Given the description of an element on the screen output the (x, y) to click on. 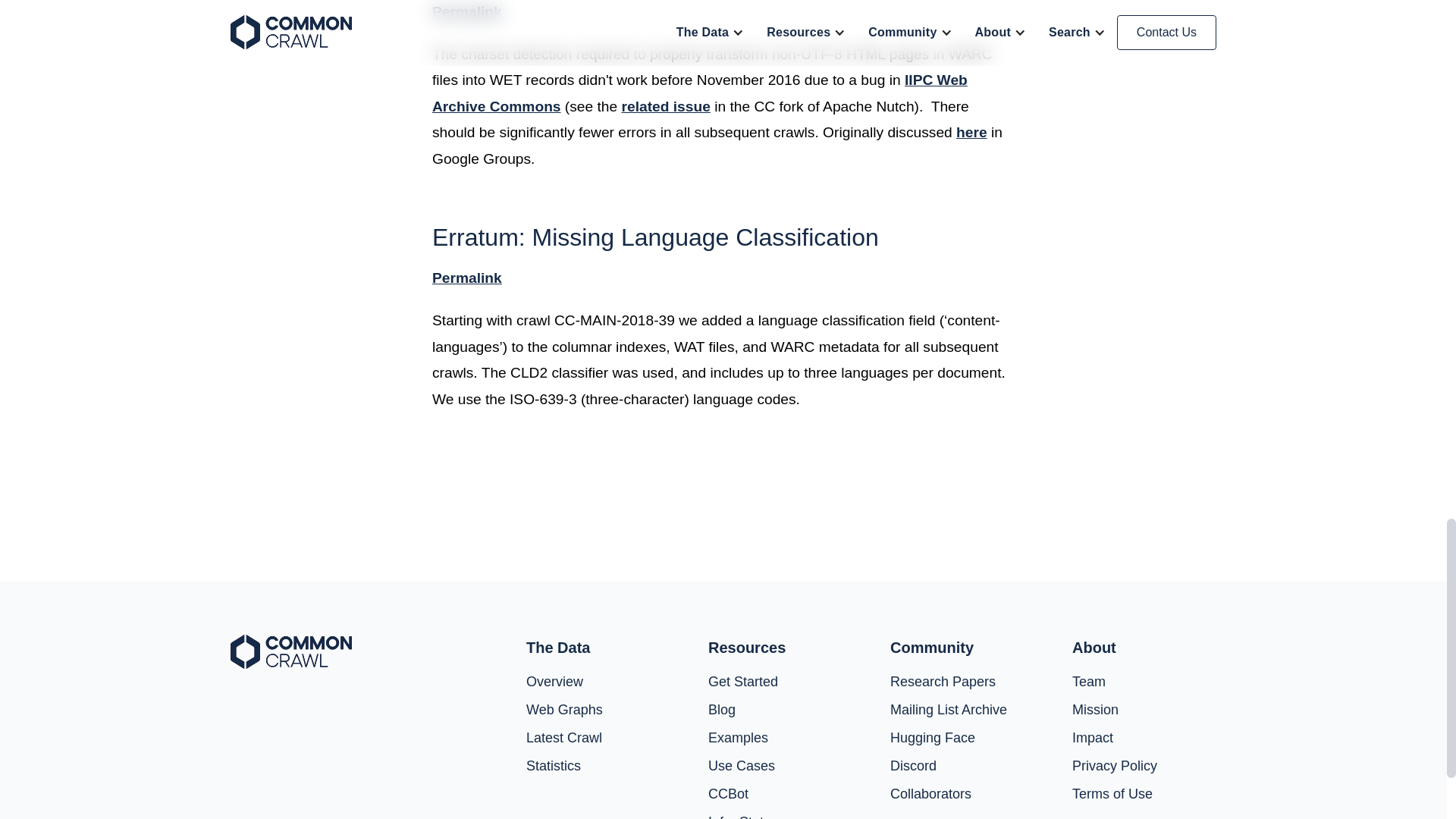
IIPC Web Archive Commons (700, 93)
related issue (665, 106)
here (971, 132)
Permalink (467, 11)
